Given the description of an element on the screen output the (x, y) to click on. 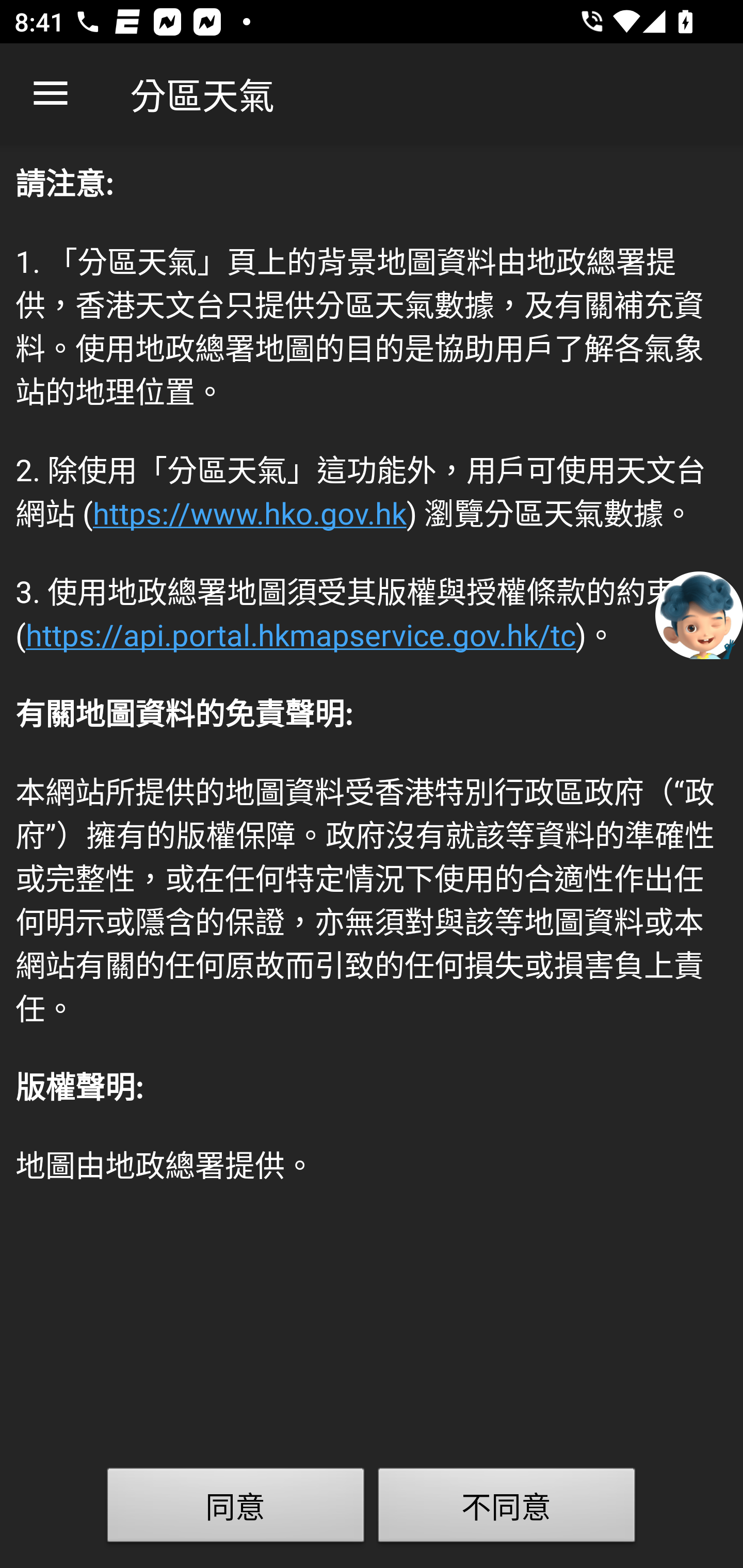
向上瀏覽 (50, 93)
聊天機械人 (699, 614)
同意 (235, 1509)
不同意 (506, 1509)
